Given the description of an element on the screen output the (x, y) to click on. 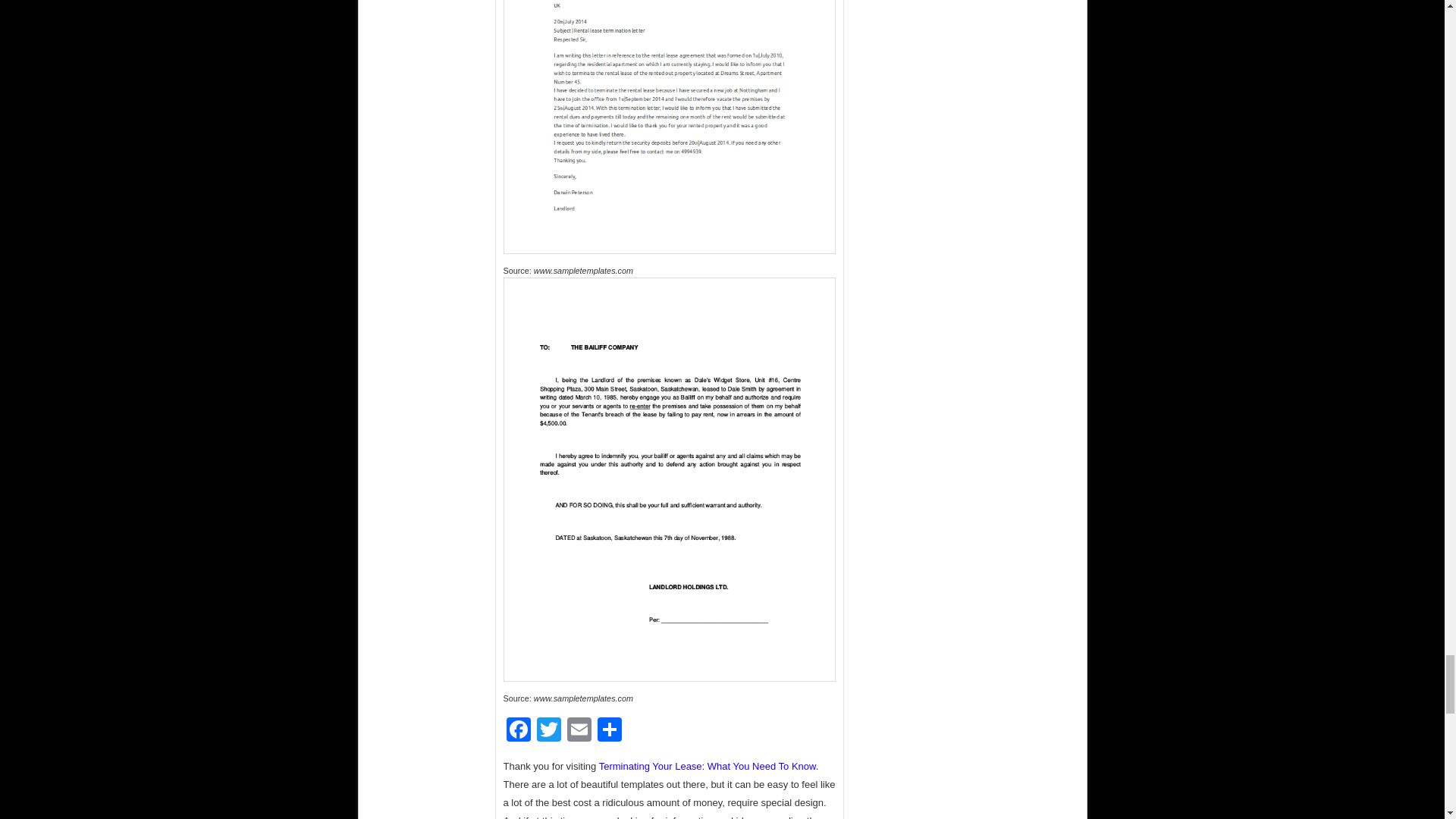
Facebook (518, 731)
Email (579, 731)
Twitter (549, 731)
Terminating Your Lease: What You Need To Know (706, 766)
Email (579, 731)
Twitter (549, 731)
Facebook (518, 731)
